Given the description of an element on the screen output the (x, y) to click on. 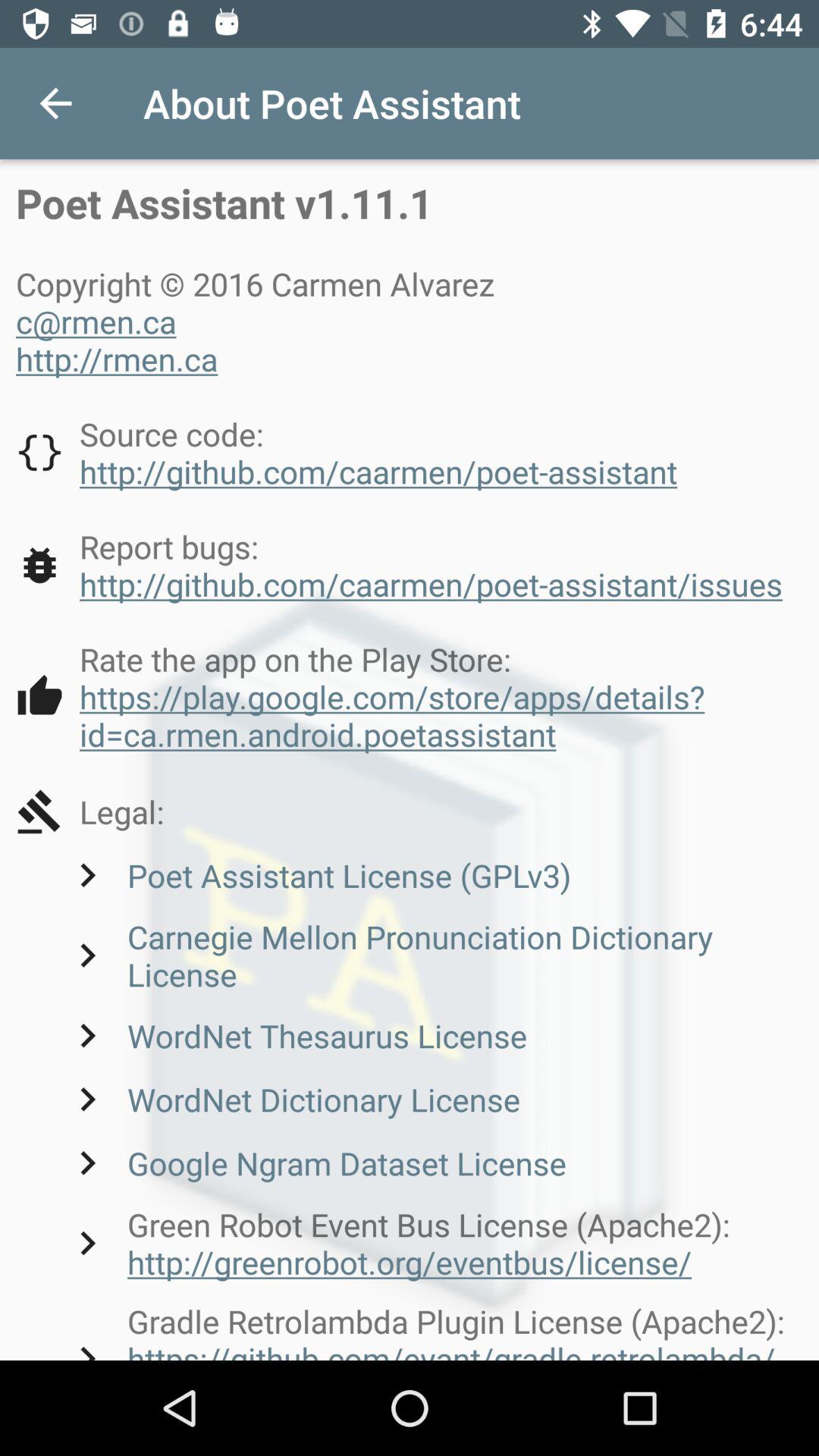
choose the green robot event (433, 1242)
